Given the description of an element on the screen output the (x, y) to click on. 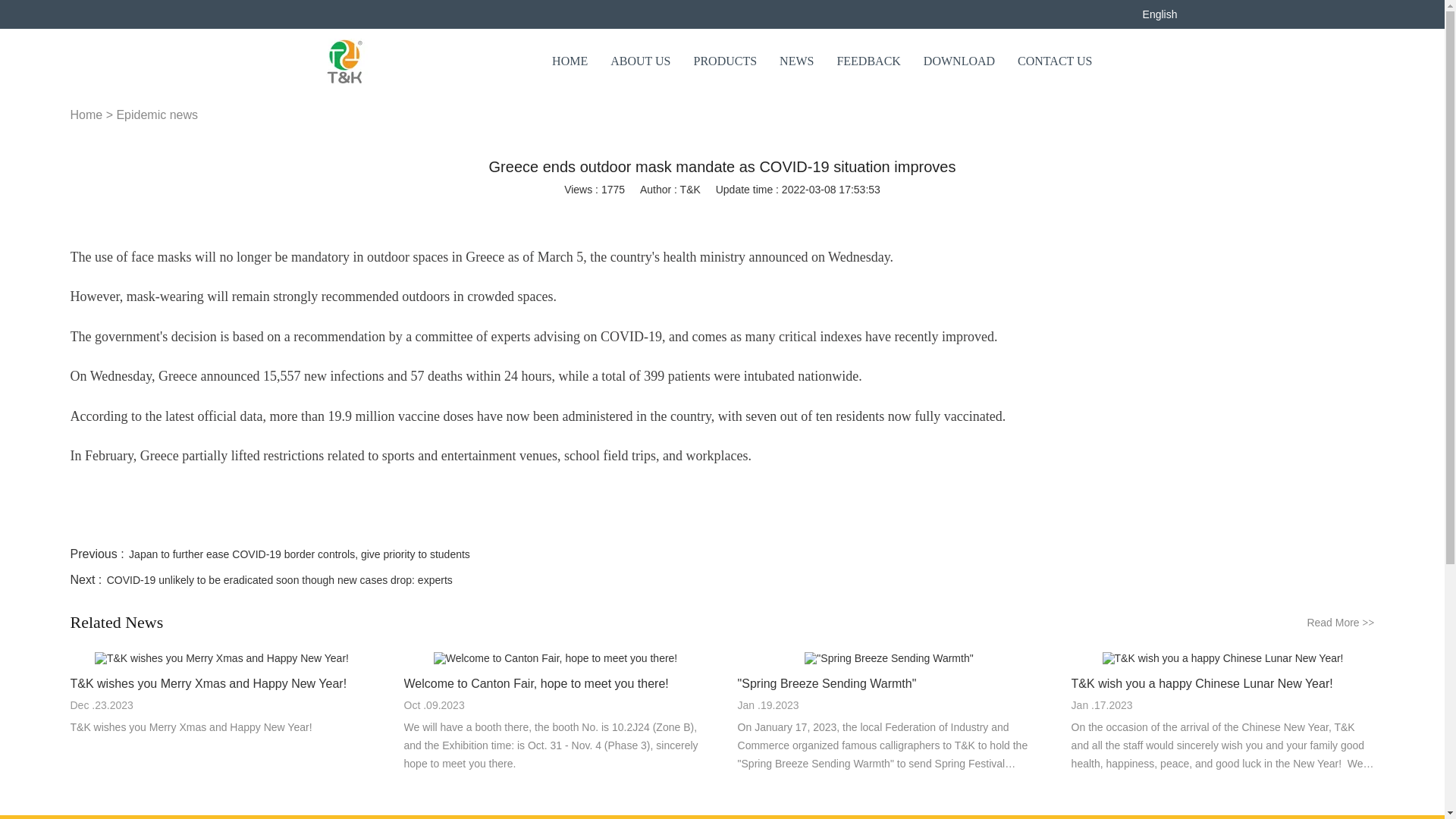
Home (569, 61)
Download (958, 61)
About Us (639, 61)
News (795, 61)
Feedback (867, 61)
Contact Us (1054, 61)
Products (725, 61)
